Given the description of an element on the screen output the (x, y) to click on. 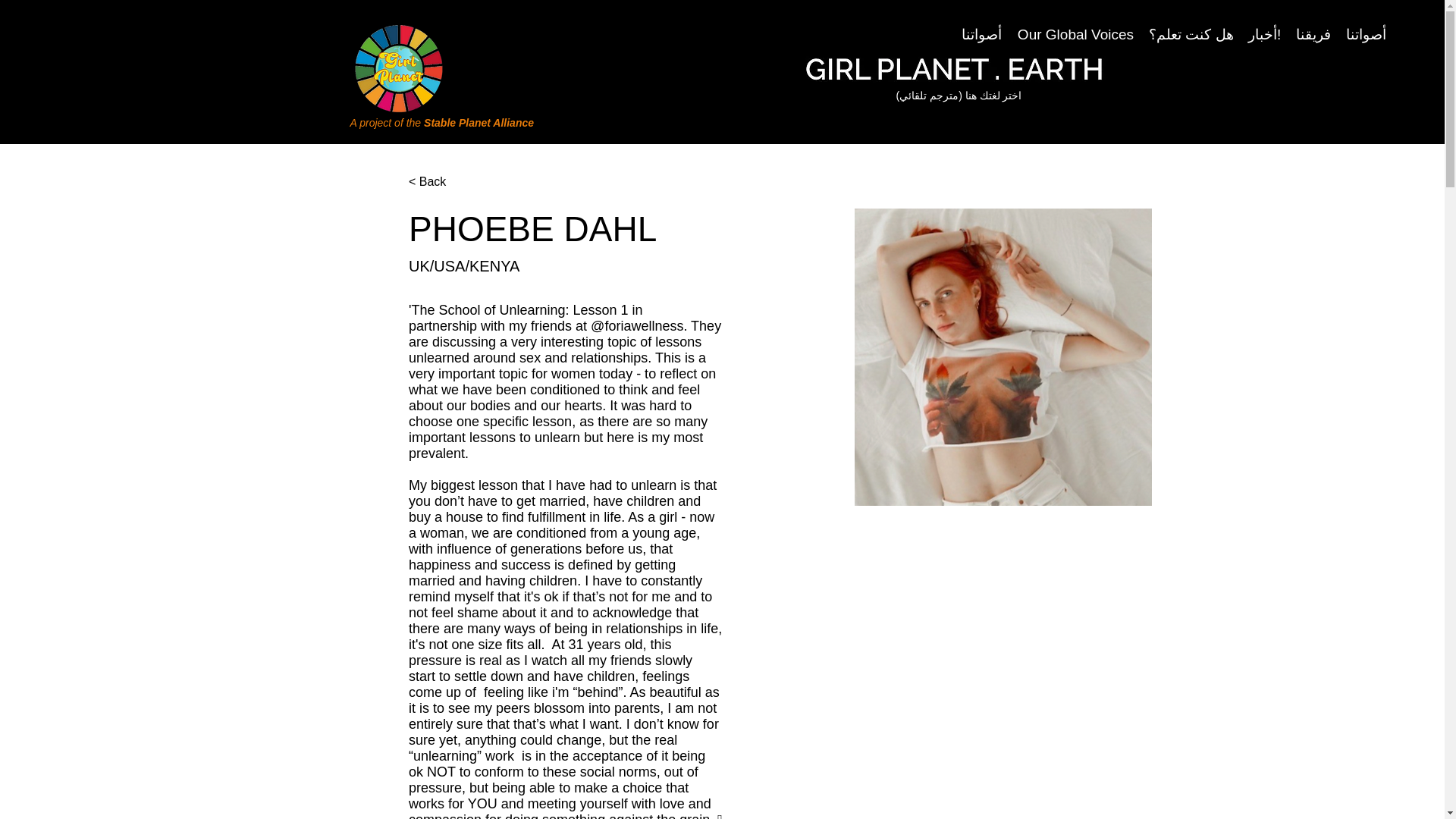
Phoebe Dahl.jpg (1002, 357)
Our Global Voices (1075, 34)
